Given the description of an element on the screen output the (x, y) to click on. 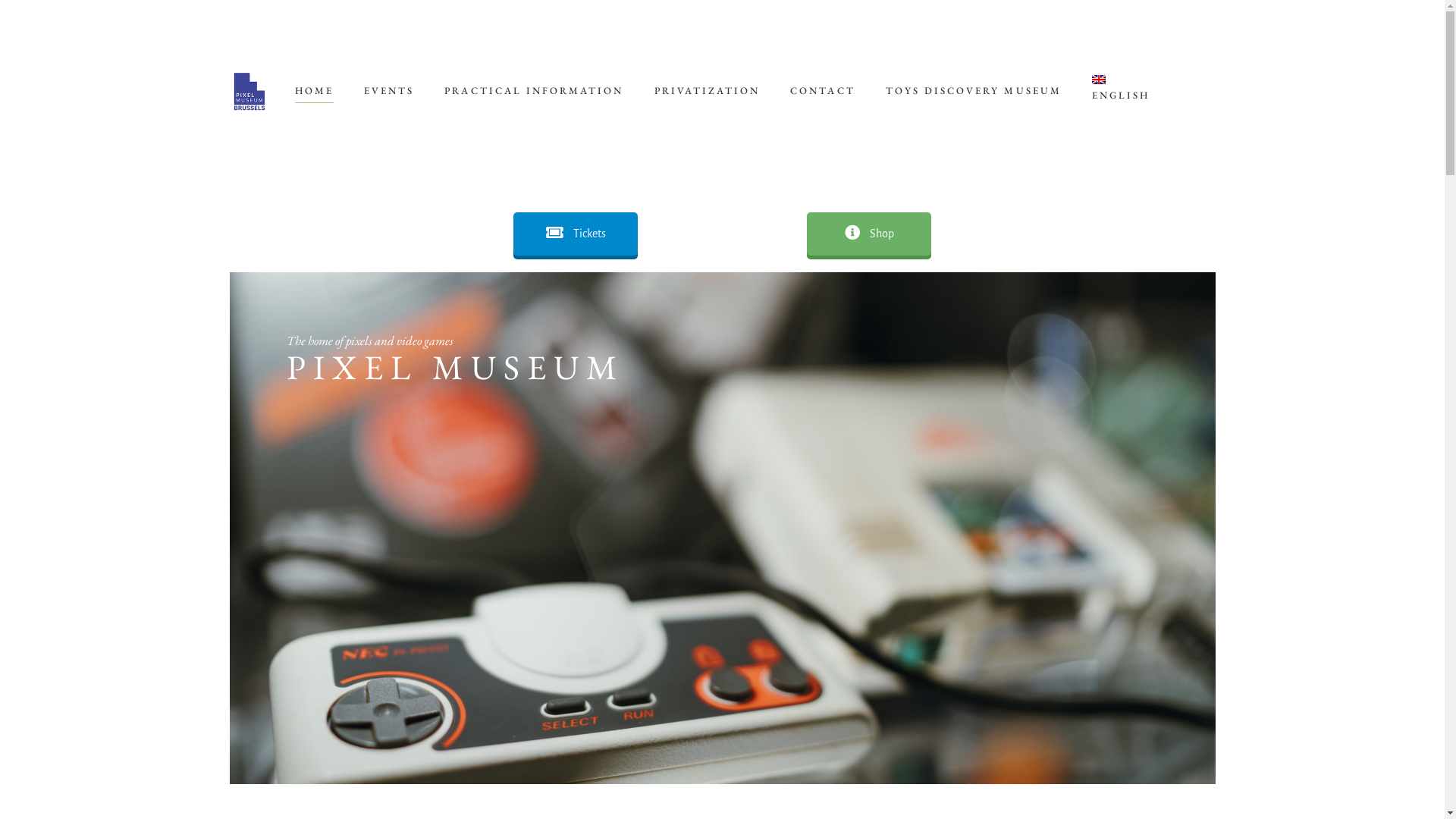
PRACTICAL INFORMATION Element type: text (533, 90)
ENGLISH Element type: text (1120, 90)
EVENTS Element type: text (388, 90)
TOYS DISCOVERY MUSEUM Element type: text (973, 90)
Shop Element type: text (868, 233)
HOME Element type: text (313, 90)
PRIVATIZATION Element type: text (707, 90)
Tickets Element type: text (575, 233)
CONTACT Element type: text (822, 90)
